Given the description of an element on the screen output the (x, y) to click on. 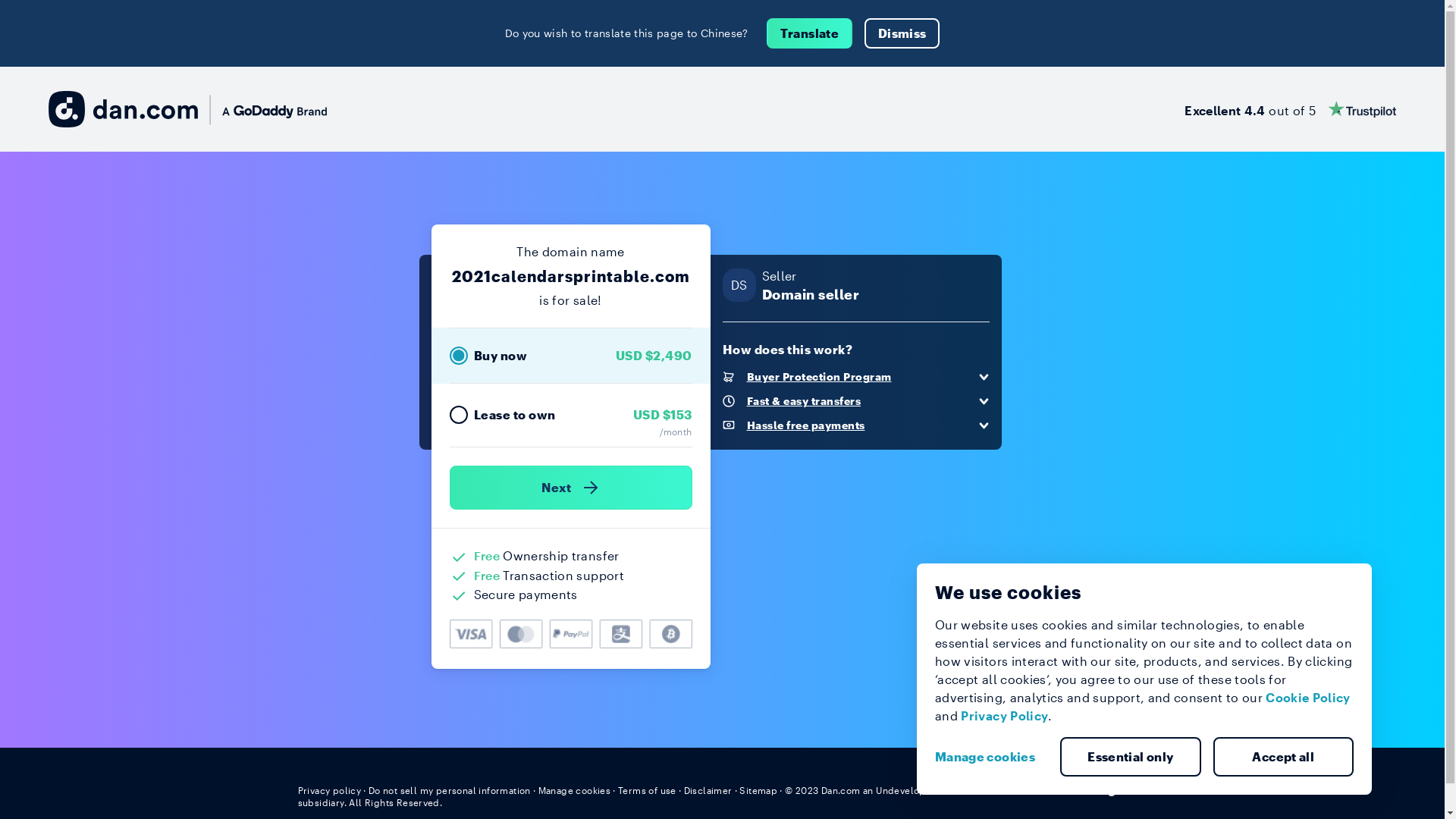
Cookie Policy Element type: text (1307, 697)
Excellent 4.4 out of 5 Element type: text (1290, 109)
Accept all Element type: text (1283, 756)
Manage cookies Element type: text (574, 790)
Essential only Element type: text (1130, 756)
Dismiss Element type: text (901, 33)
Disclaimer Element type: text (708, 789)
Sitemap Element type: text (758, 789)
Terms of use Element type: text (647, 789)
Next
) Element type: text (569, 487)
English Element type: text (1119, 789)
Privacy Policy Element type: text (1004, 715)
Translate Element type: text (809, 33)
Do not sell my personal information Element type: text (449, 789)
Privacy policy Element type: text (328, 789)
Manage cookies Element type: text (991, 756)
